Given the description of an element on the screen output the (x, y) to click on. 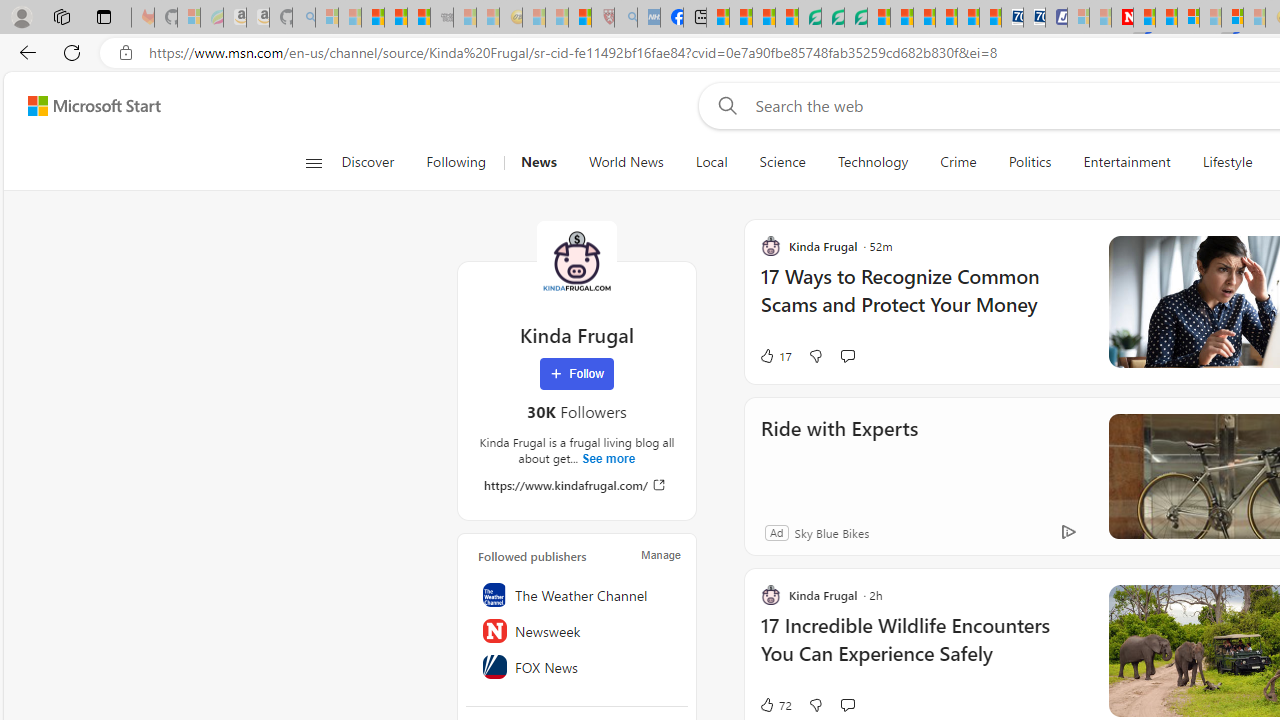
Class: button-glyph (313, 162)
Microsoft account | Privacy - Sleeping (1078, 17)
Politics (1030, 162)
17 Incredible Wildlife Encounters You Can Experience Safely (922, 650)
Start the conversation (847, 704)
Local (711, 162)
Trusted Community Engagement and Contributions | Guidelines (1144, 17)
Newsweek (577, 631)
Cheap Hotels - Save70.com (1034, 17)
Combat Siege (442, 17)
Terms of Use Agreement (832, 17)
World News (625, 162)
Dislike (815, 704)
